Given the description of an element on the screen output the (x, y) to click on. 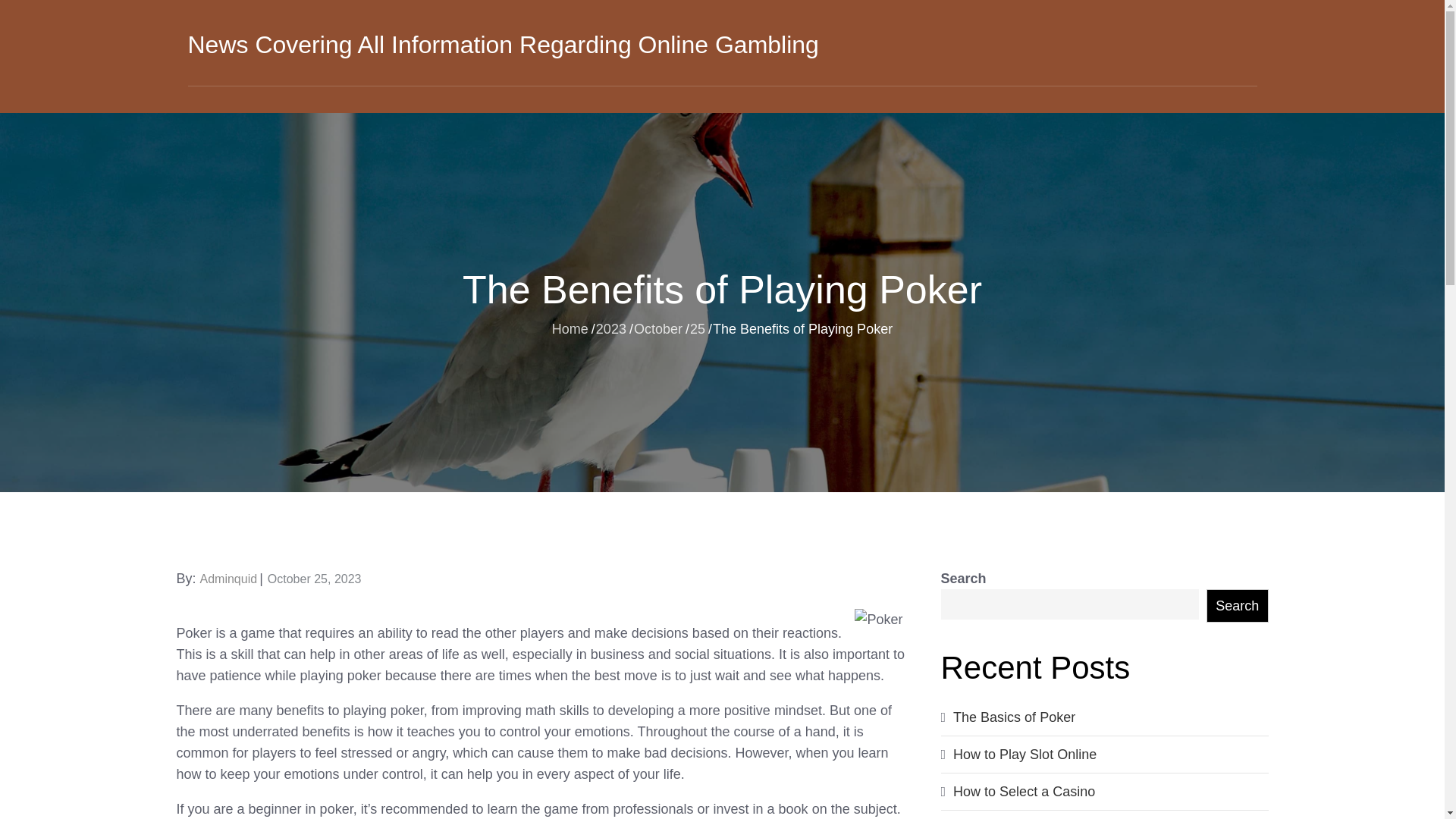
October 25, 2023 (314, 578)
2023 (610, 328)
How to Play Slot Online (1024, 754)
Adminquid (228, 578)
Search (1237, 605)
Home (569, 328)
The Basics of Poker (1014, 717)
News Covering All Information Regarding Online Gambling (502, 44)
October (657, 328)
25 (697, 328)
How to Select a Casino (1023, 791)
